Given the description of an element on the screen output the (x, y) to click on. 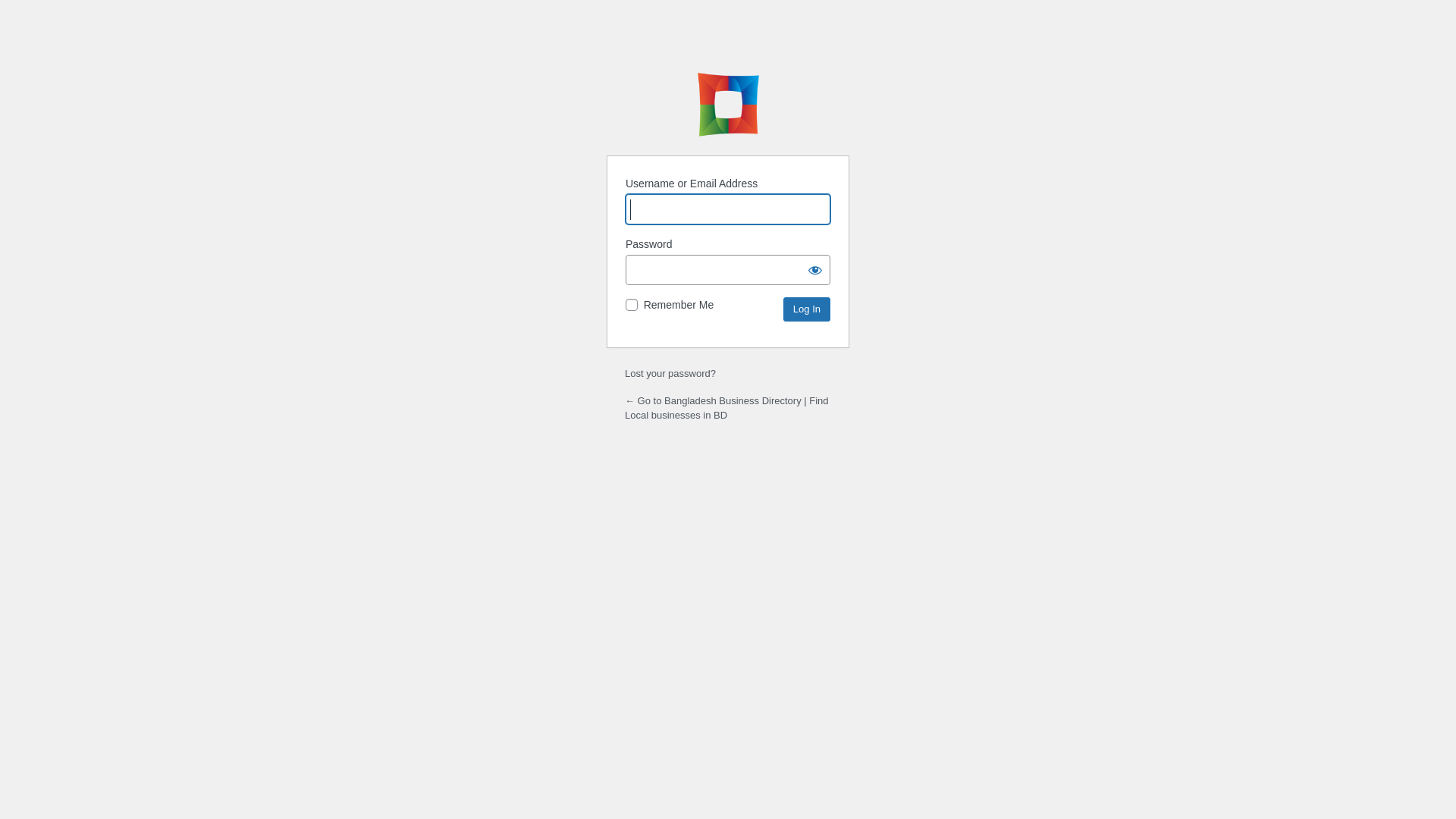
Lost your password? Element type: text (669, 373)
Log In Element type: text (806, 309)
Powered businessdirectory.com.bd Element type: text (727, 104)
